Given the description of an element on the screen output the (x, y) to click on. 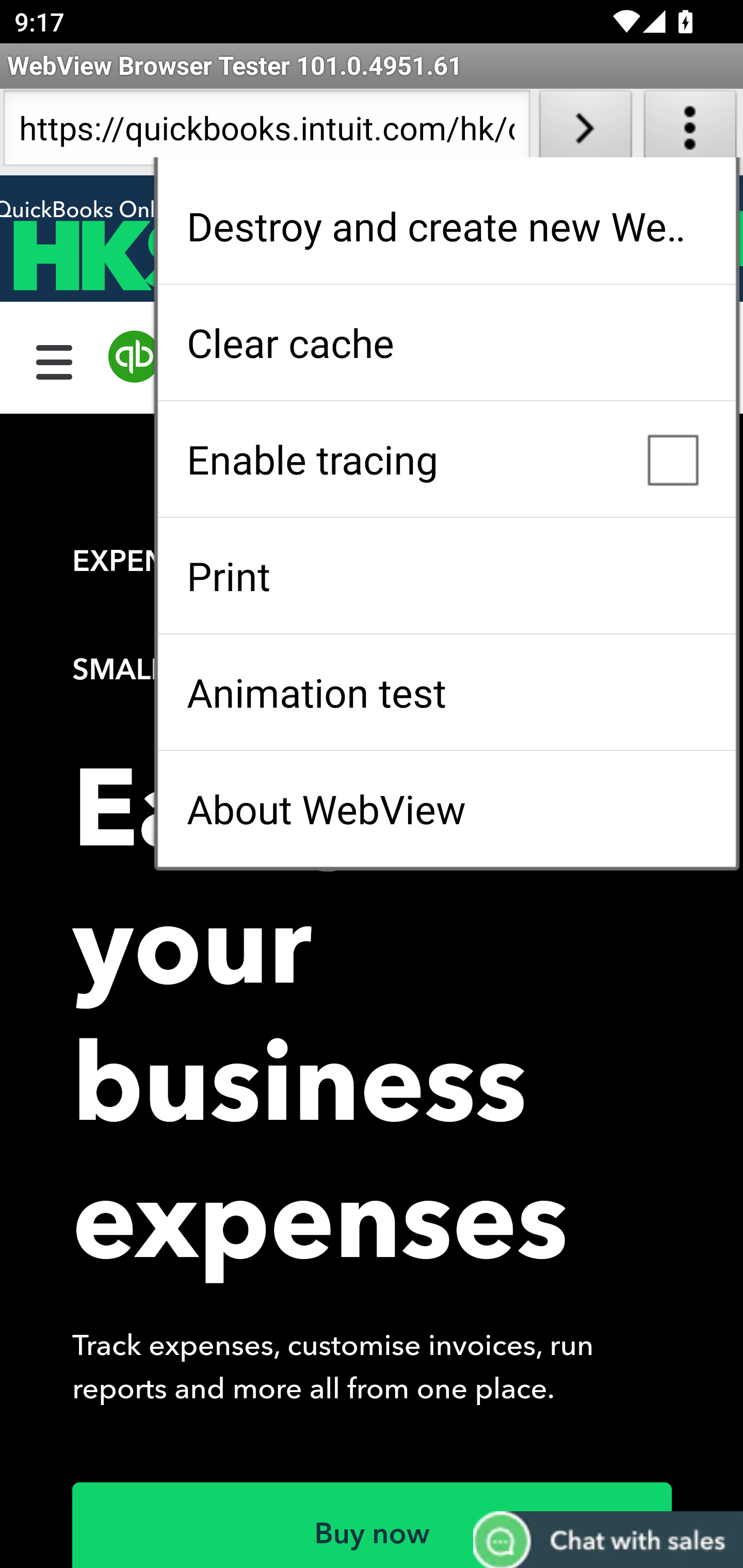
Destroy and create new WebView (446, 225)
Clear cache (446, 342)
Enable tracing (446, 459)
Print (446, 575)
Animation test (446, 692)
About WebView (446, 809)
